Given the description of an element on the screen output the (x, y) to click on. 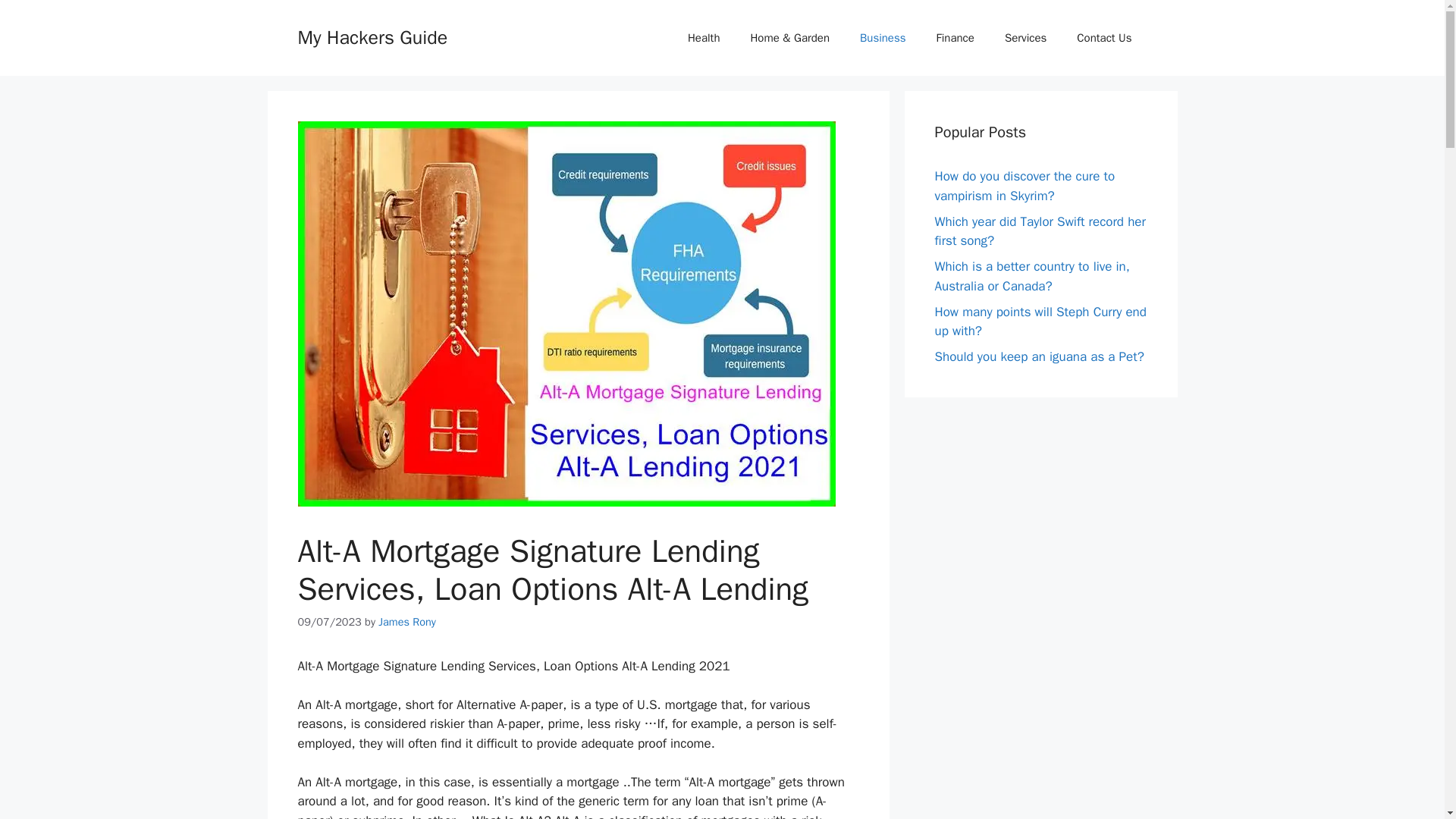
Contact Us (1104, 37)
Business (882, 37)
Services (1025, 37)
How many points will Steph Curry end up with? (1039, 321)
Which is a better country to live in, Australia or Canada? (1031, 276)
Finance (955, 37)
Should you keep an iguana as a Pet? (1038, 356)
Which year did Taylor Swift record her first song? (1039, 231)
How do you discover the cure to vampirism in Skyrim? (1024, 185)
My Hackers Guide (371, 37)
